Given the description of an element on the screen output the (x, y) to click on. 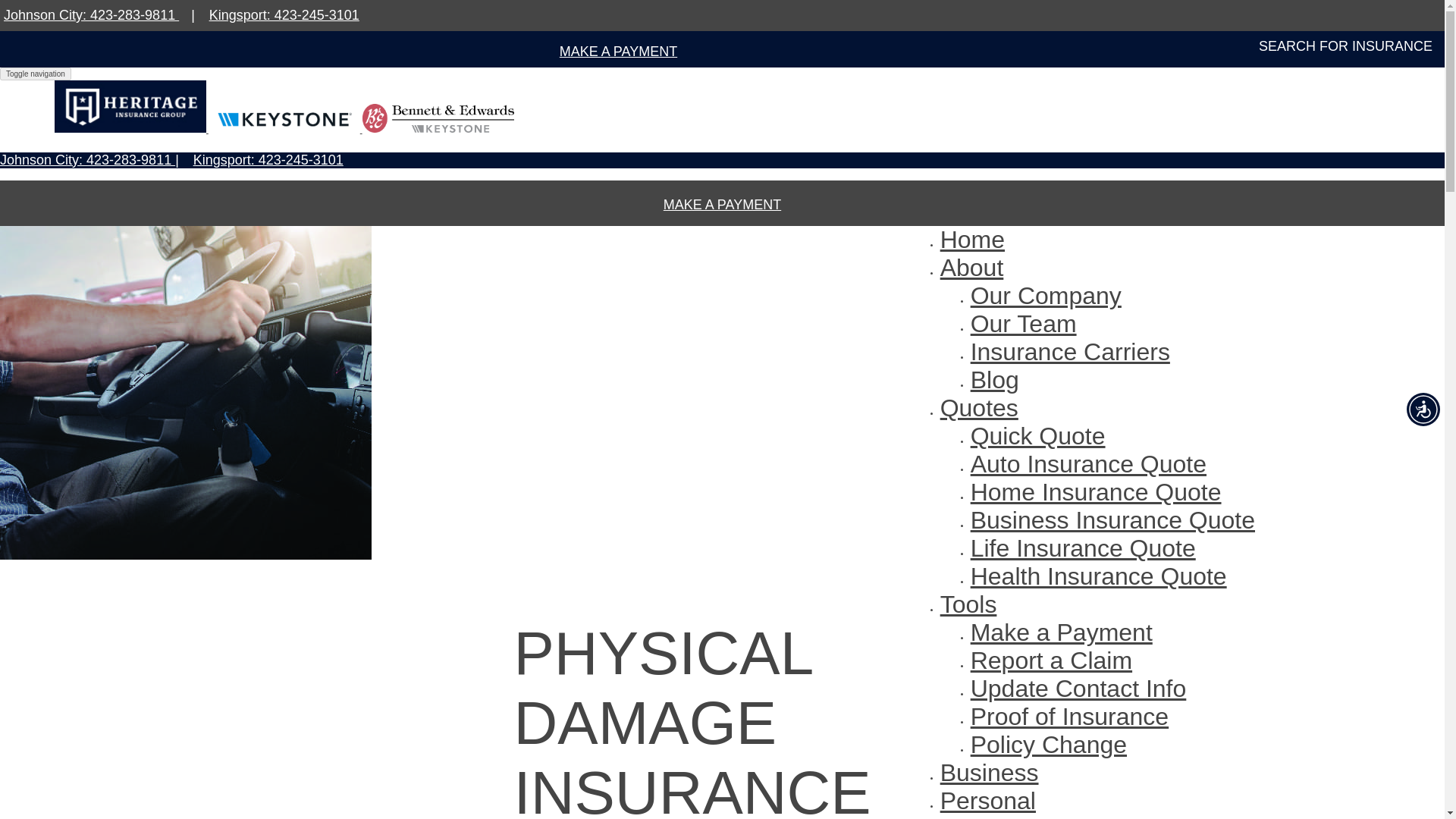
Blog (995, 379)
Policy Change (1048, 744)
Accessibility Menu (1422, 409)
Blog (995, 379)
Personal (987, 800)
Quick Quote (1038, 435)
Our Team (1024, 323)
Our Company (1046, 295)
Proof of Insurance (1070, 716)
About (972, 267)
Business Insurance Quote (1113, 519)
Home (972, 239)
Insurance Carriers (1070, 351)
Update Contact Info (1078, 687)
Auto Insurance Quote (1089, 463)
